Given the description of an element on the screen output the (x, y) to click on. 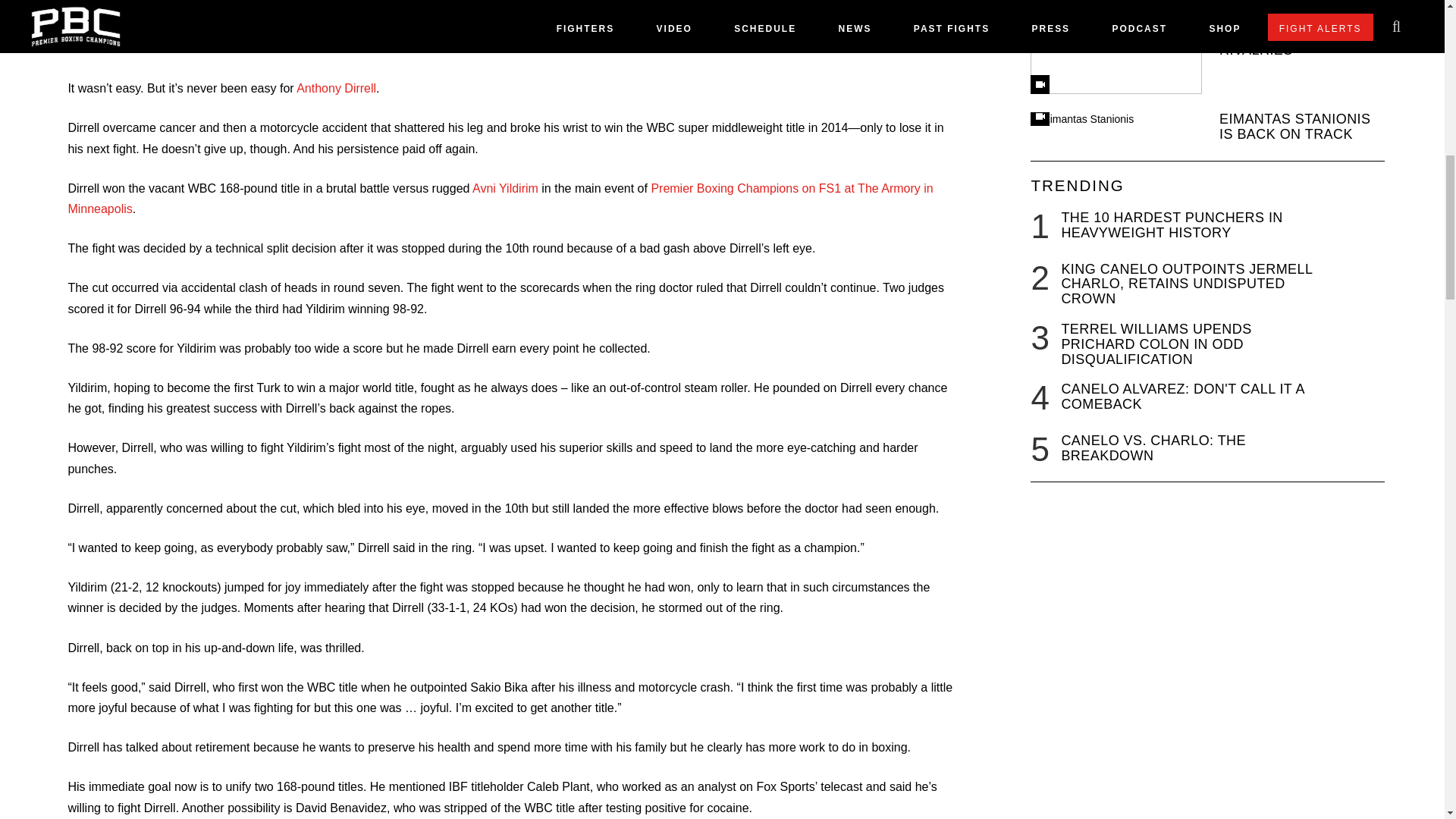
Avni Yildirim (504, 187)
Anthony Dirrell (336, 88)
Premier Boxing Champions on FS1 at The Armory in Minneapolis (499, 198)
